Given the description of an element on the screen output the (x, y) to click on. 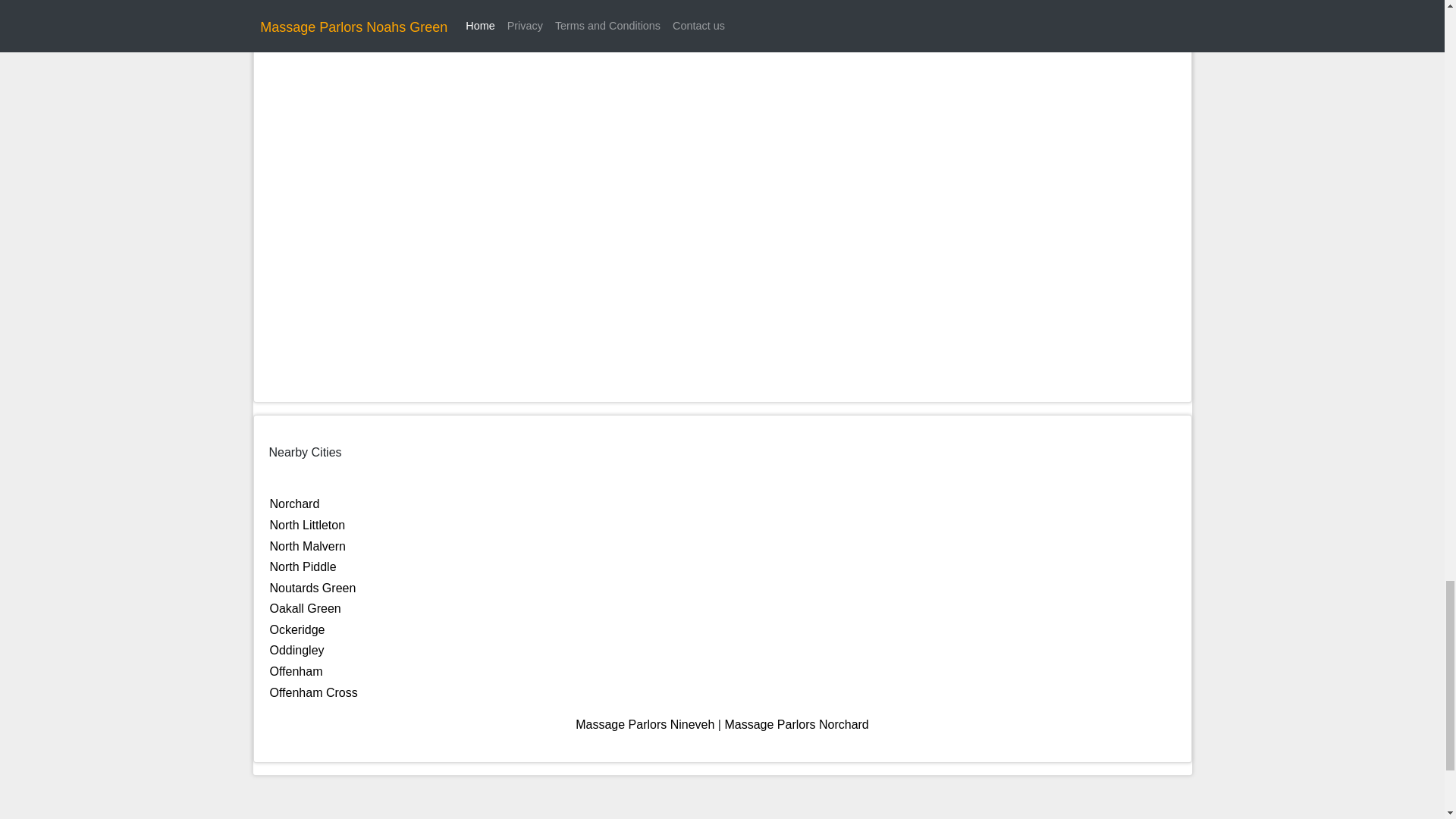
North Piddle (302, 566)
Offenham Cross (313, 692)
Norchard (294, 503)
Massage Parlors Norchard (795, 724)
Massage Parlors Nineveh (644, 724)
Ockeridge (296, 629)
Oakall Green (304, 608)
Noutards Green (312, 587)
Oddingley (296, 649)
North Littleton (307, 524)
